Given the description of an element on the screen output the (x, y) to click on. 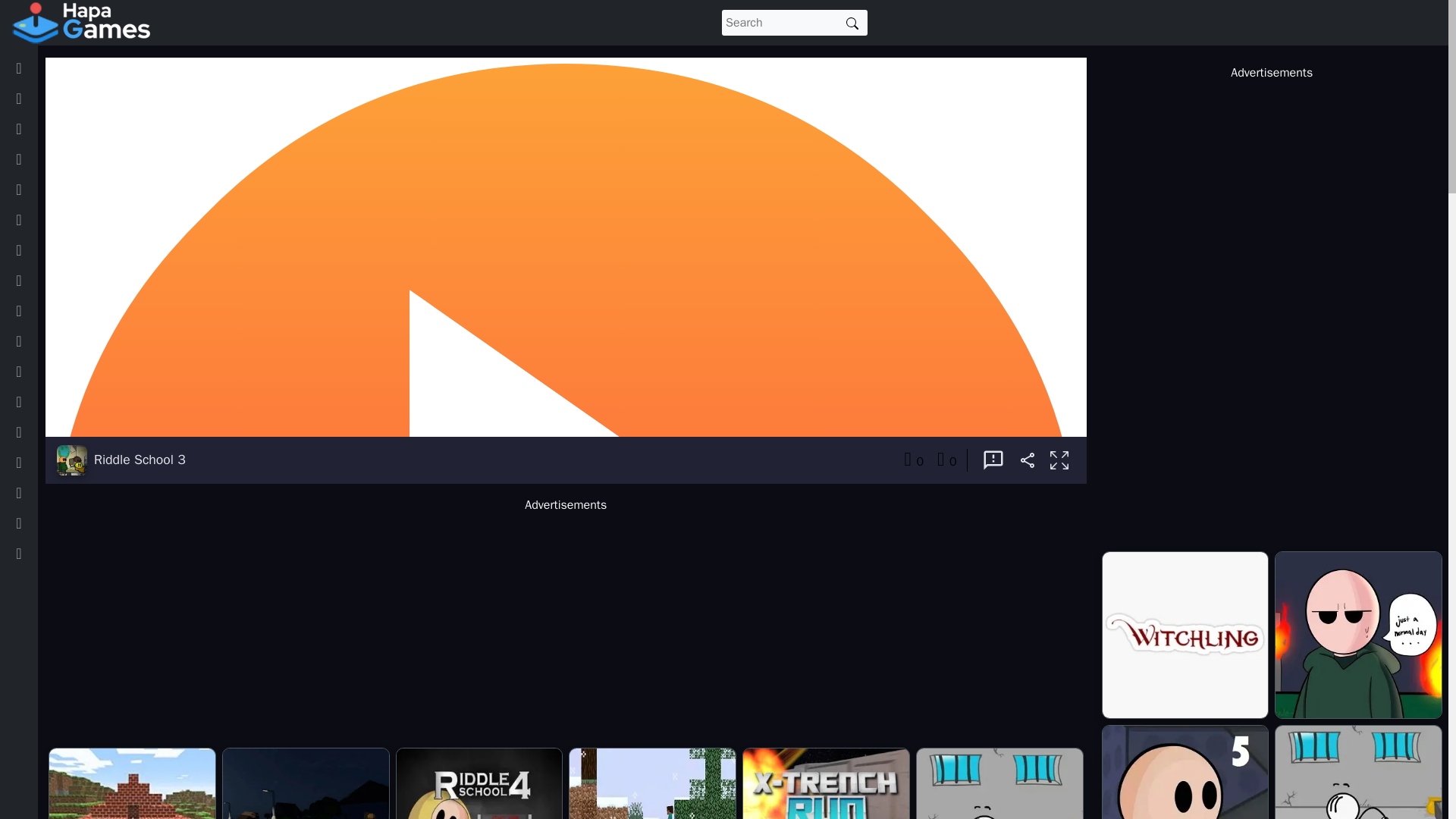
Adventure (47, 189)
Basketball (48, 522)
Search (852, 22)
Casual (40, 250)
Driving (39, 280)
Full Screen (1058, 460)
Report a bug (992, 459)
Puzzle (38, 340)
Shooting (44, 371)
0 (945, 459)
0 (913, 459)
New Games (52, 98)
Racing (39, 431)
Fighting (41, 492)
